Given the description of an element on the screen output the (x, y) to click on. 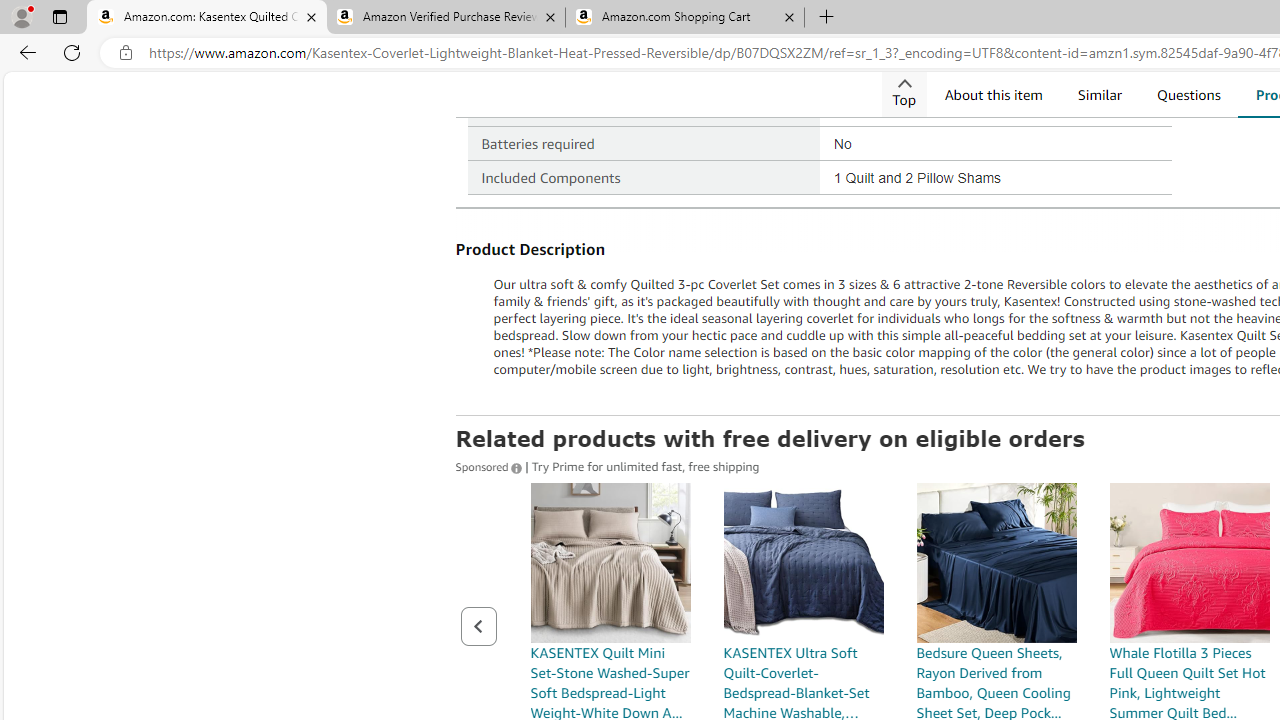
Amazon Verified Purchase Reviews - Amazon Customer Service (445, 17)
About this item (992, 94)
Top (903, 94)
Amazon.com Shopping Cart (684, 17)
Similar (1099, 94)
Sponsored  (490, 465)
Previous page of related Sponsored Products (477, 625)
